Given the description of an element on the screen output the (x, y) to click on. 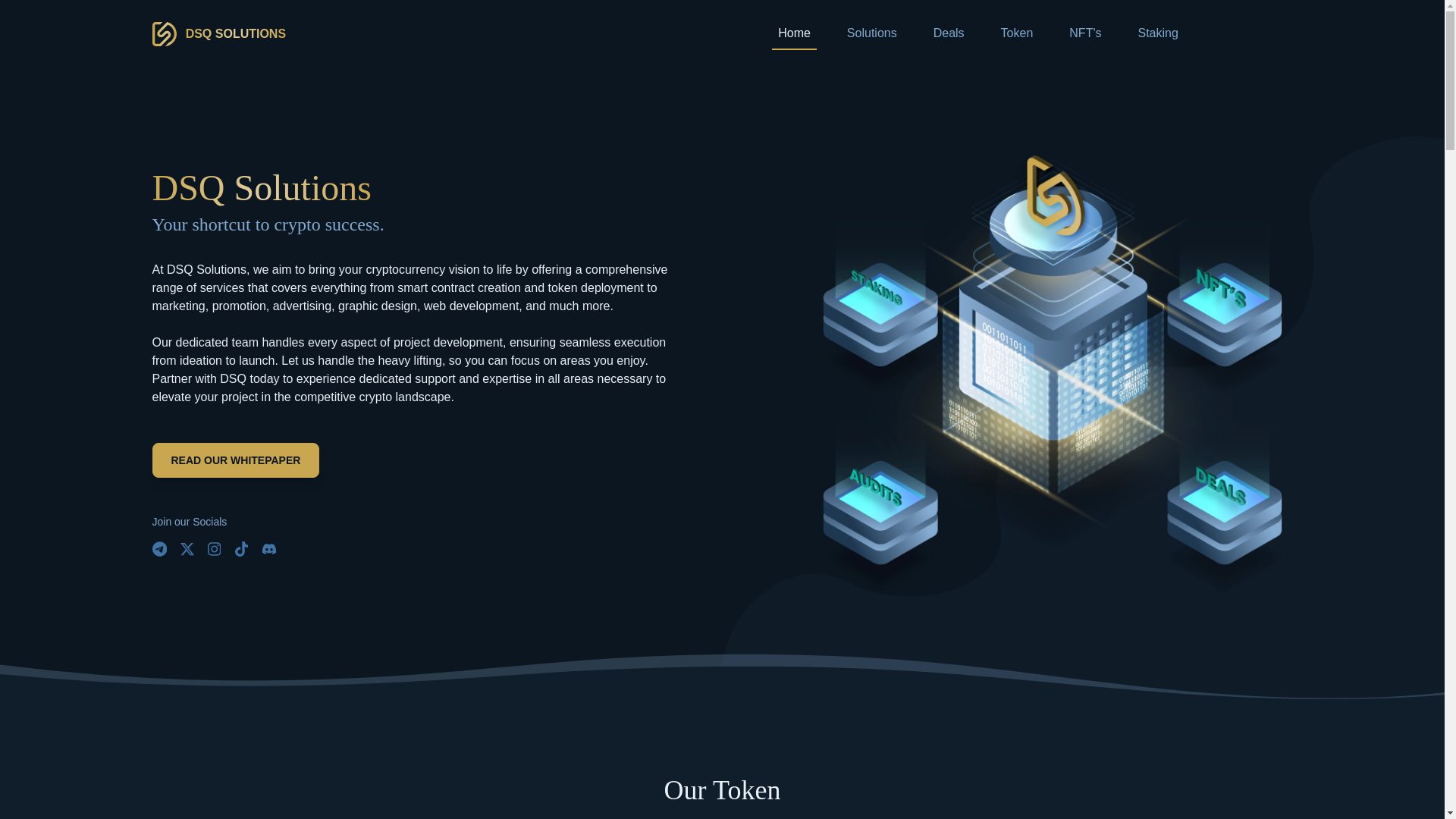
Deals (949, 33)
Solutions (871, 33)
Home (793, 33)
Token (1016, 33)
READ OUR WHITEPAPER (234, 460)
Staking (1157, 33)
DSQ SOLUTIONS (218, 33)
NFT's (1084, 33)
